Given the description of an element on the screen output the (x, y) to click on. 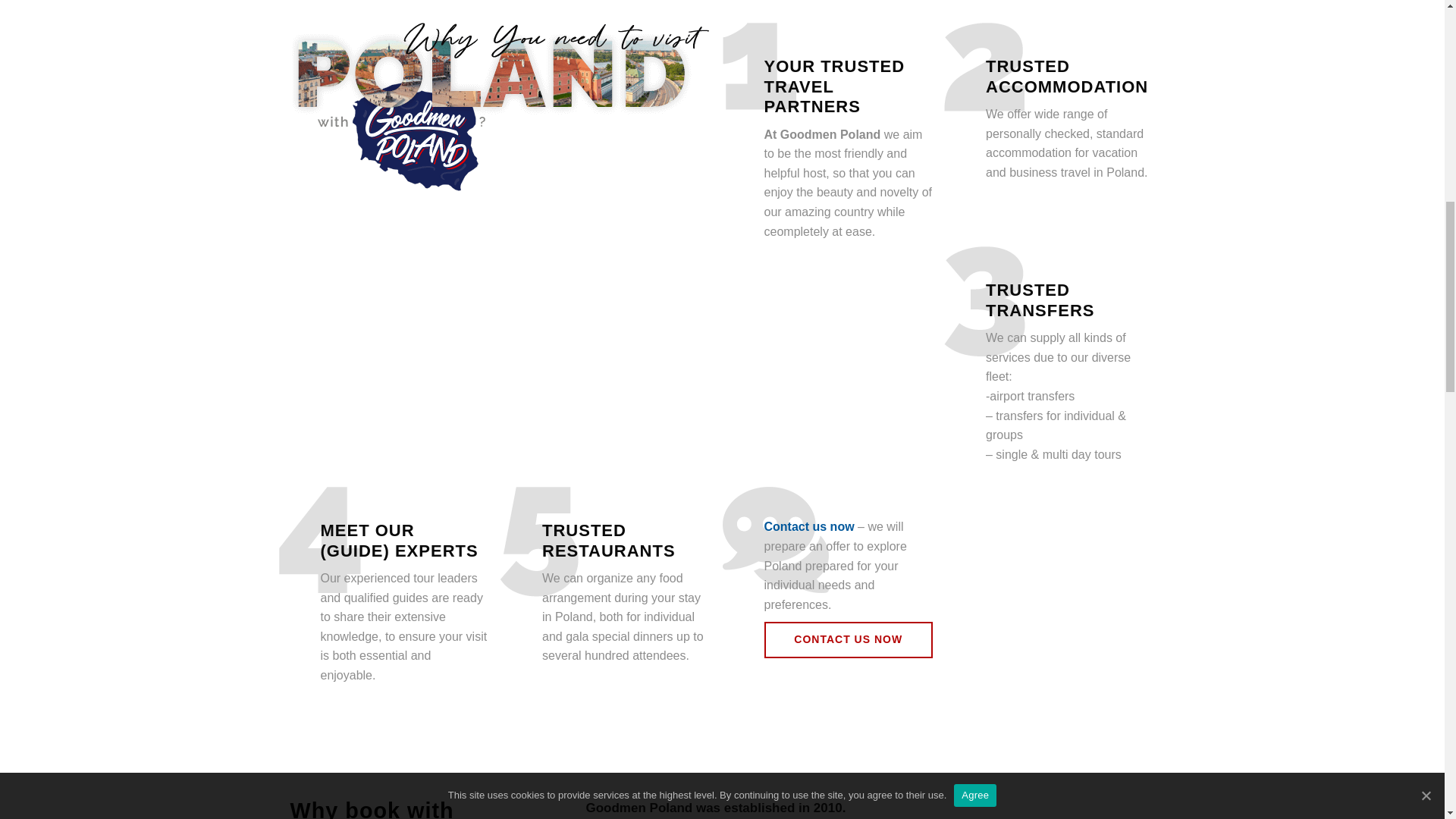
Contact us now (809, 526)
CONTACT US NOW (848, 639)
